Given the description of an element on the screen output the (x, y) to click on. 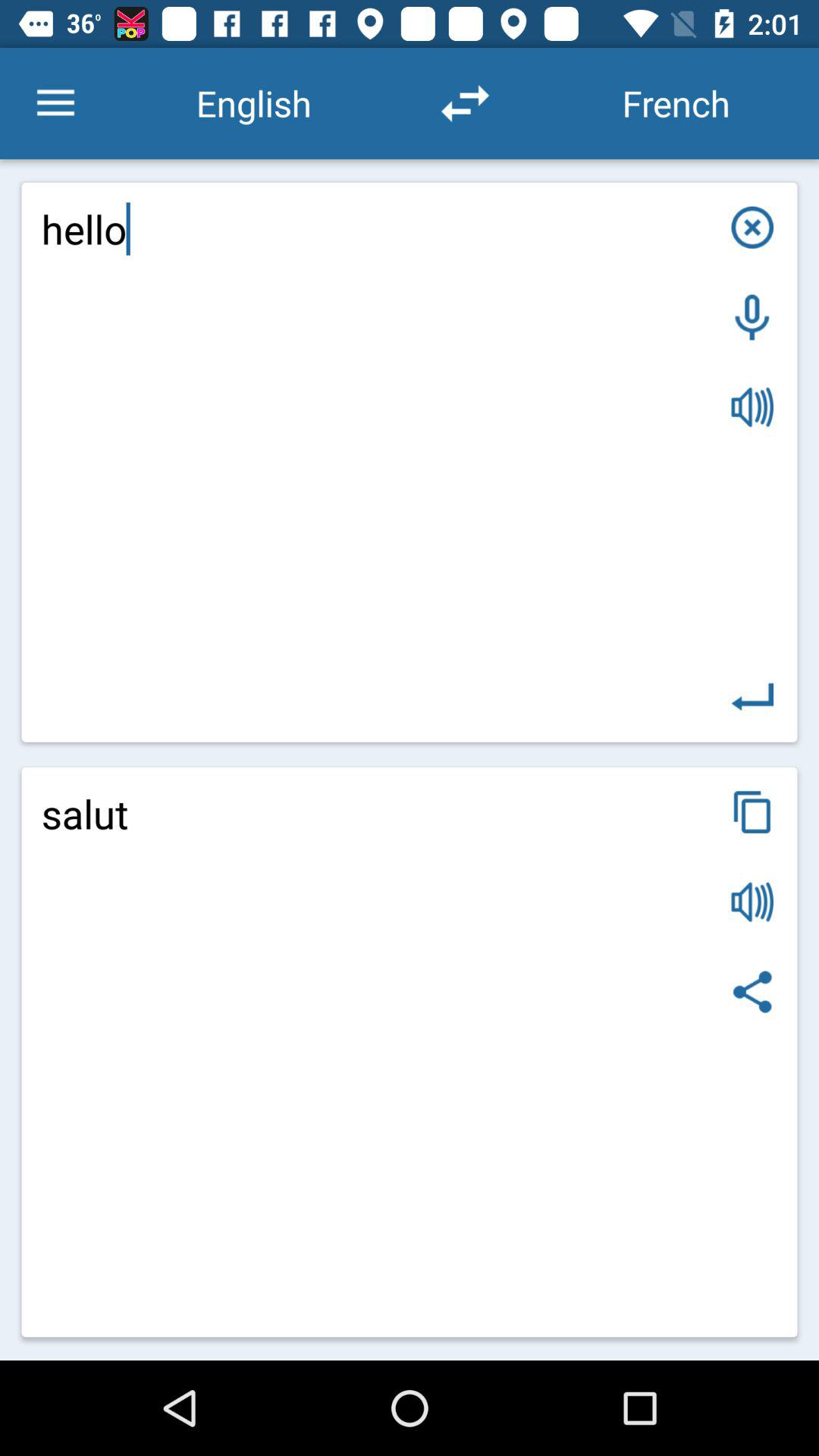
turn on the item to the left of english item (55, 103)
